Given the description of an element on the screen output the (x, y) to click on. 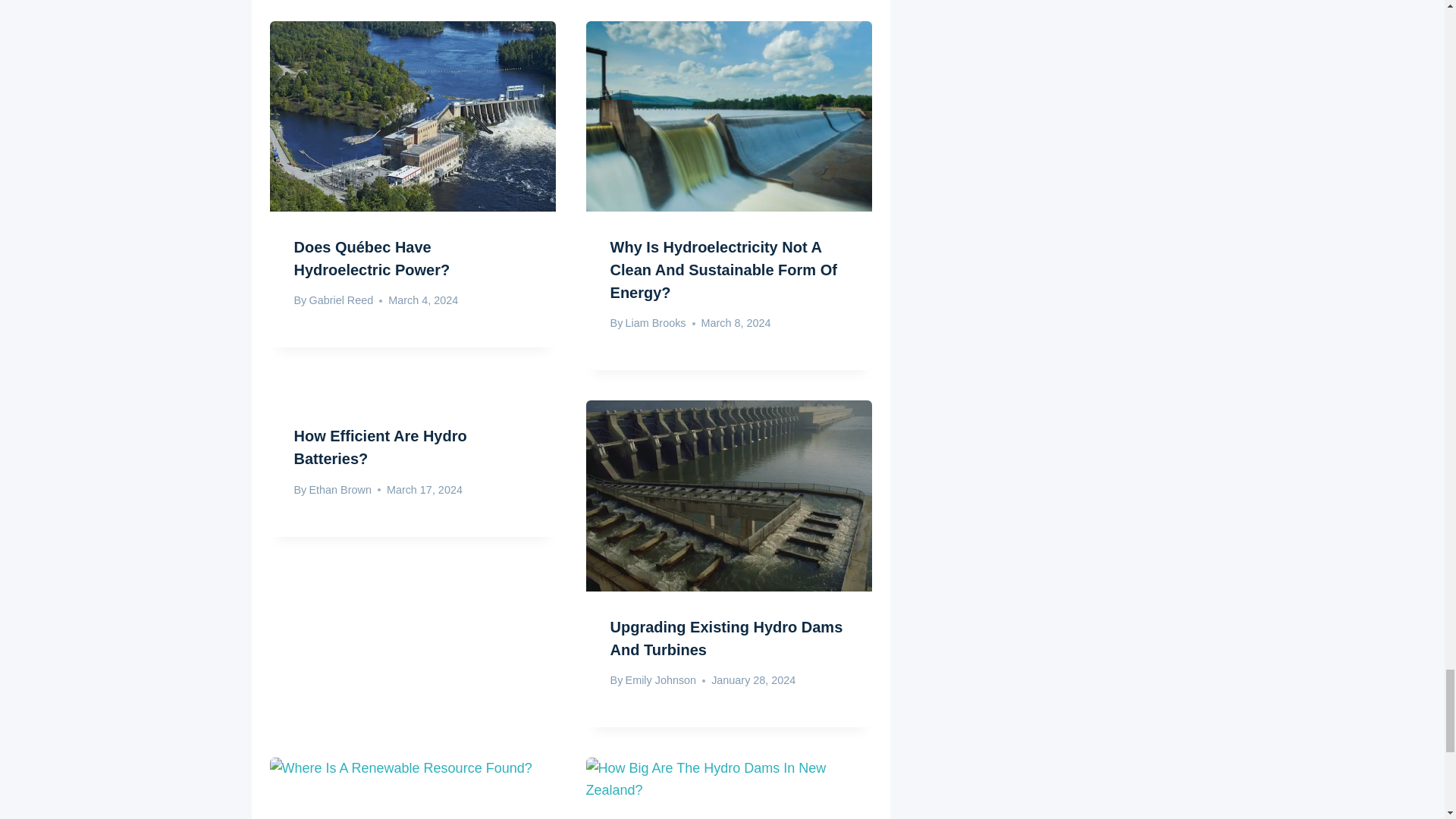
Gabriel Reed (340, 300)
